Given the description of an element on the screen output the (x, y) to click on. 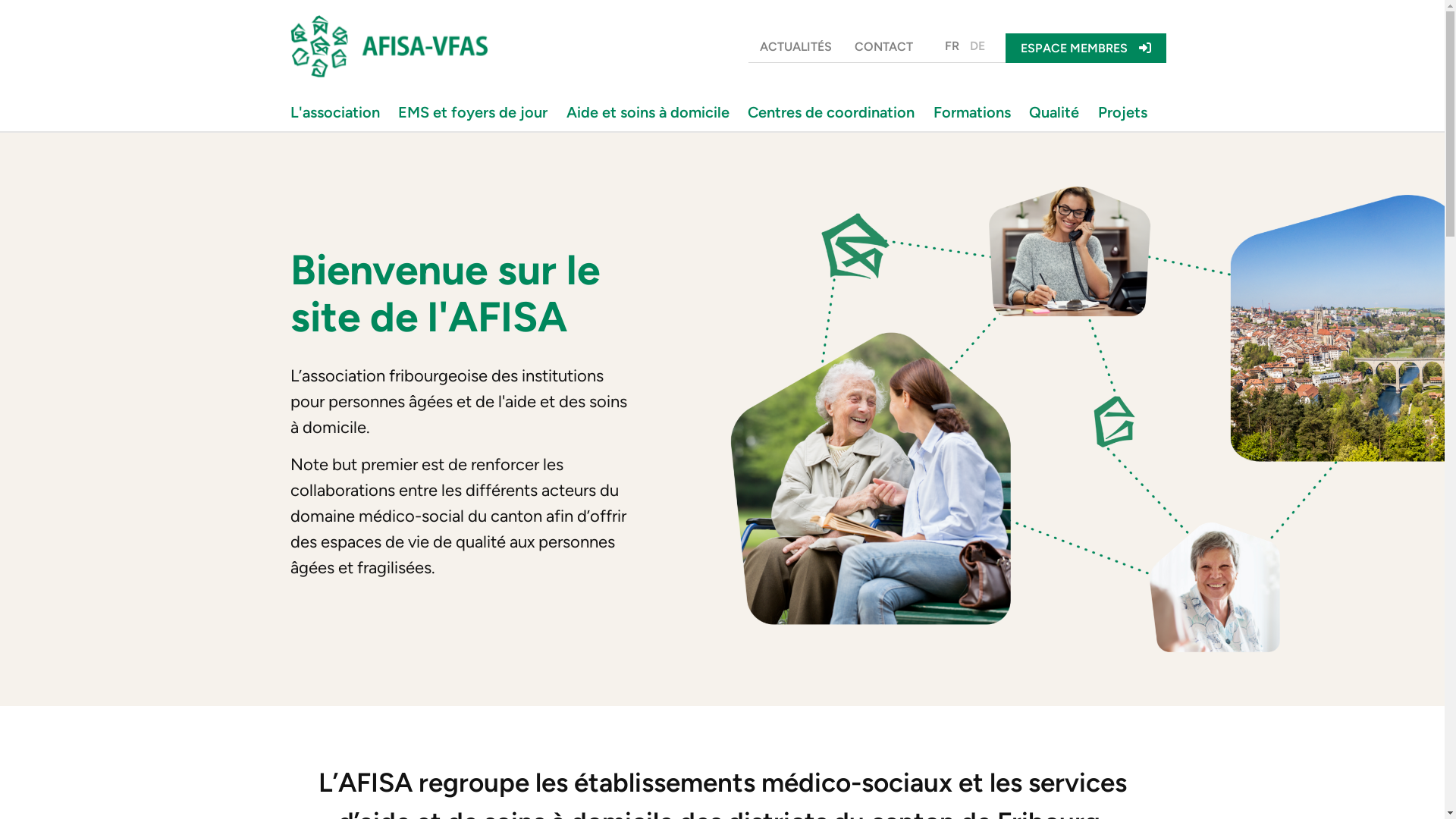
Formations Element type: text (975, 112)
L'association Element type: text (338, 112)
CONTACT Element type: text (883, 46)
Aller au contenu principal Element type: text (0, 0)
FR Element type: text (950, 46)
EMS et foyers de jour Element type: text (476, 112)
Projets Element type: text (1125, 112)
ESPACE MEMBRES Element type: text (1085, 47)
DE Element type: text (977, 46)
Centres de coordination Element type: text (834, 112)
